Given the description of an element on the screen output the (x, y) to click on. 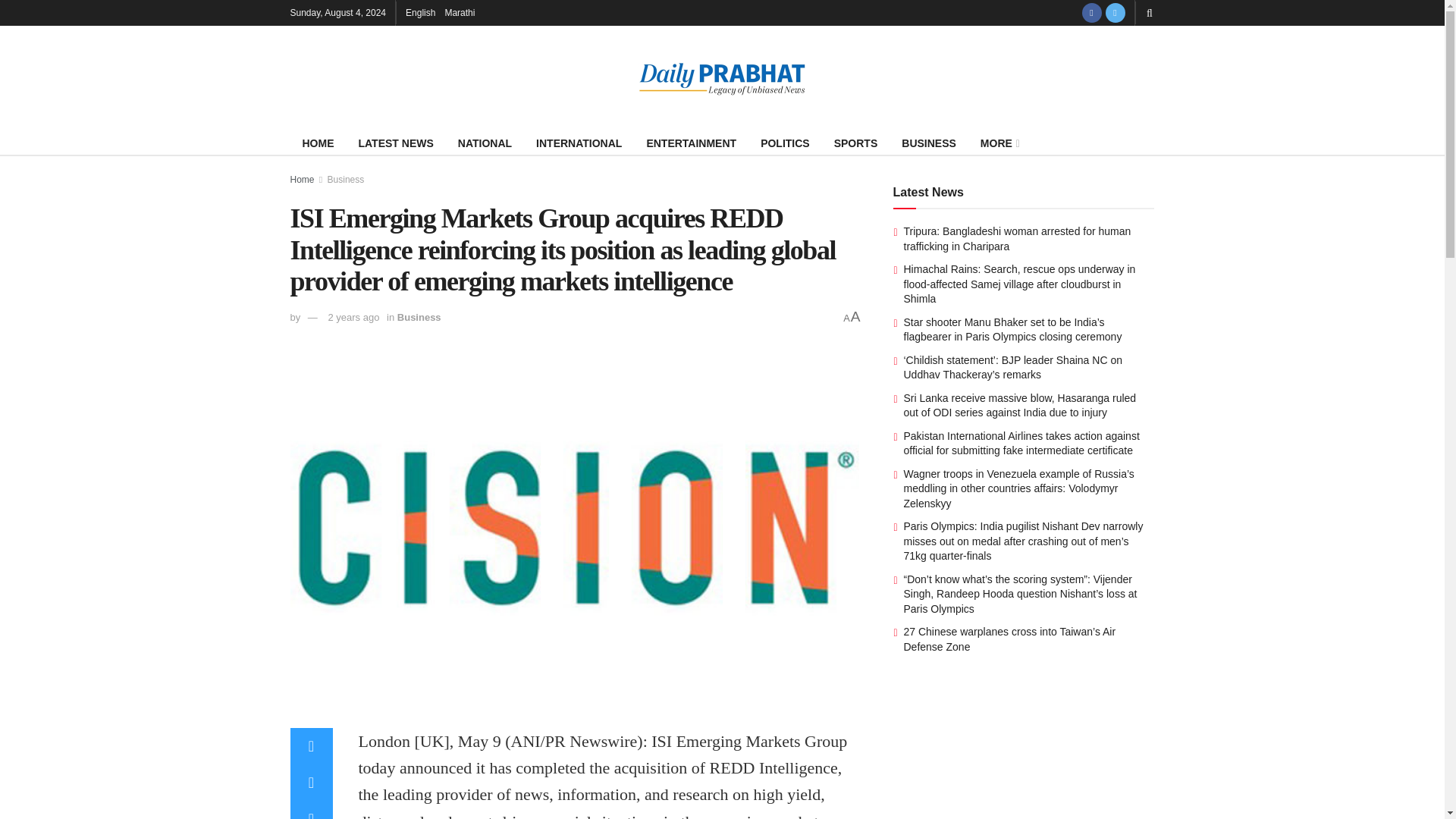
ENTERTAINMENT (690, 142)
MORE (998, 142)
Marathi (459, 12)
HOME (317, 142)
NATIONAL (484, 142)
INTERNATIONAL (578, 142)
Business (346, 179)
SPORTS (855, 142)
2 years ago (352, 317)
LATEST NEWS (395, 142)
Home (301, 179)
BUSINESS (928, 142)
English (420, 12)
Business (419, 317)
POLITICS (785, 142)
